Given the description of an element on the screen output the (x, y) to click on. 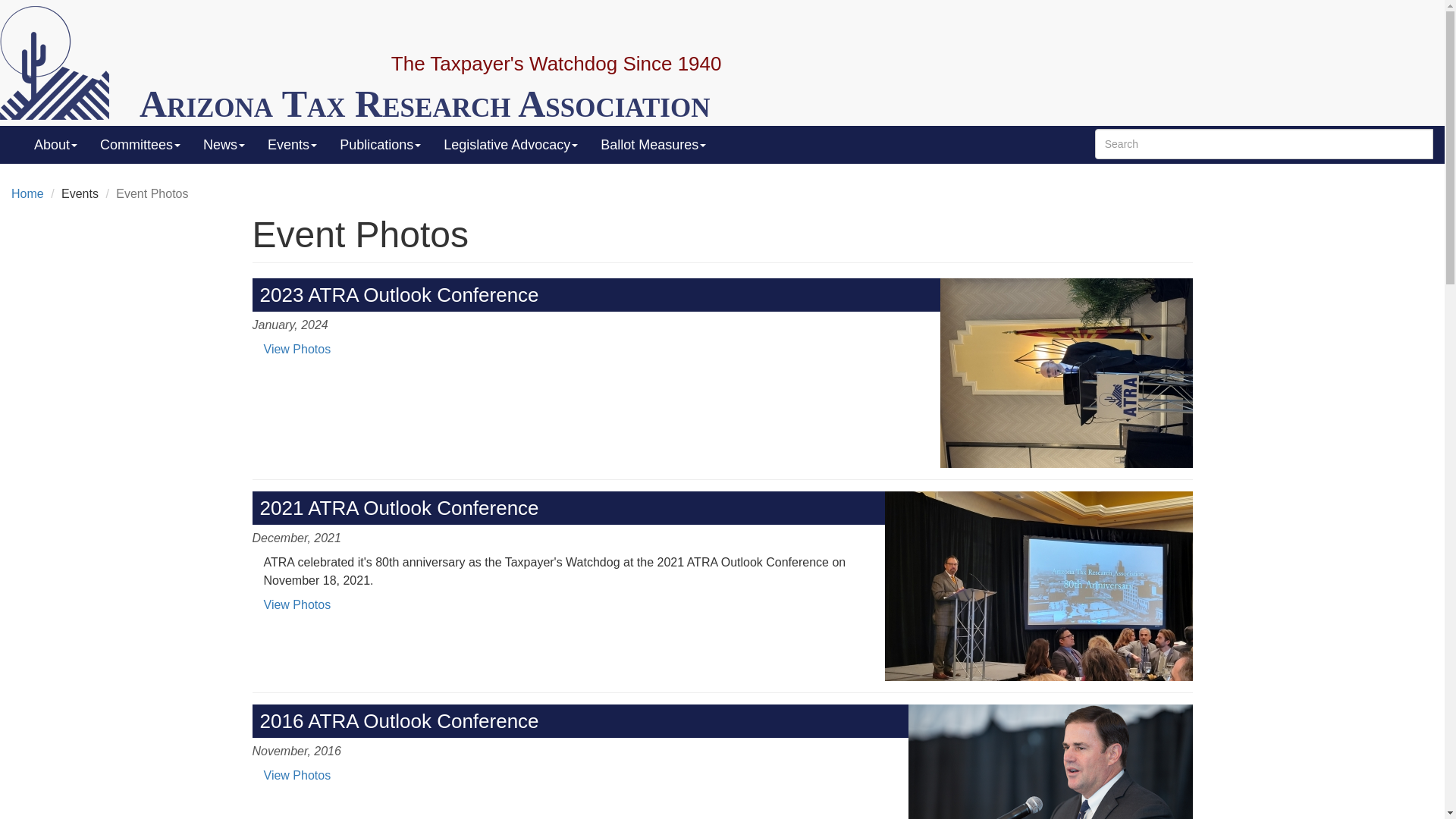
About (55, 144)
Committees (140, 144)
Arizona Tax Research Association (424, 103)
Home (424, 103)
Home (64, 62)
News (224, 144)
Enter the terms you wish to search for. (1263, 143)
